Given the description of an element on the screen output the (x, y) to click on. 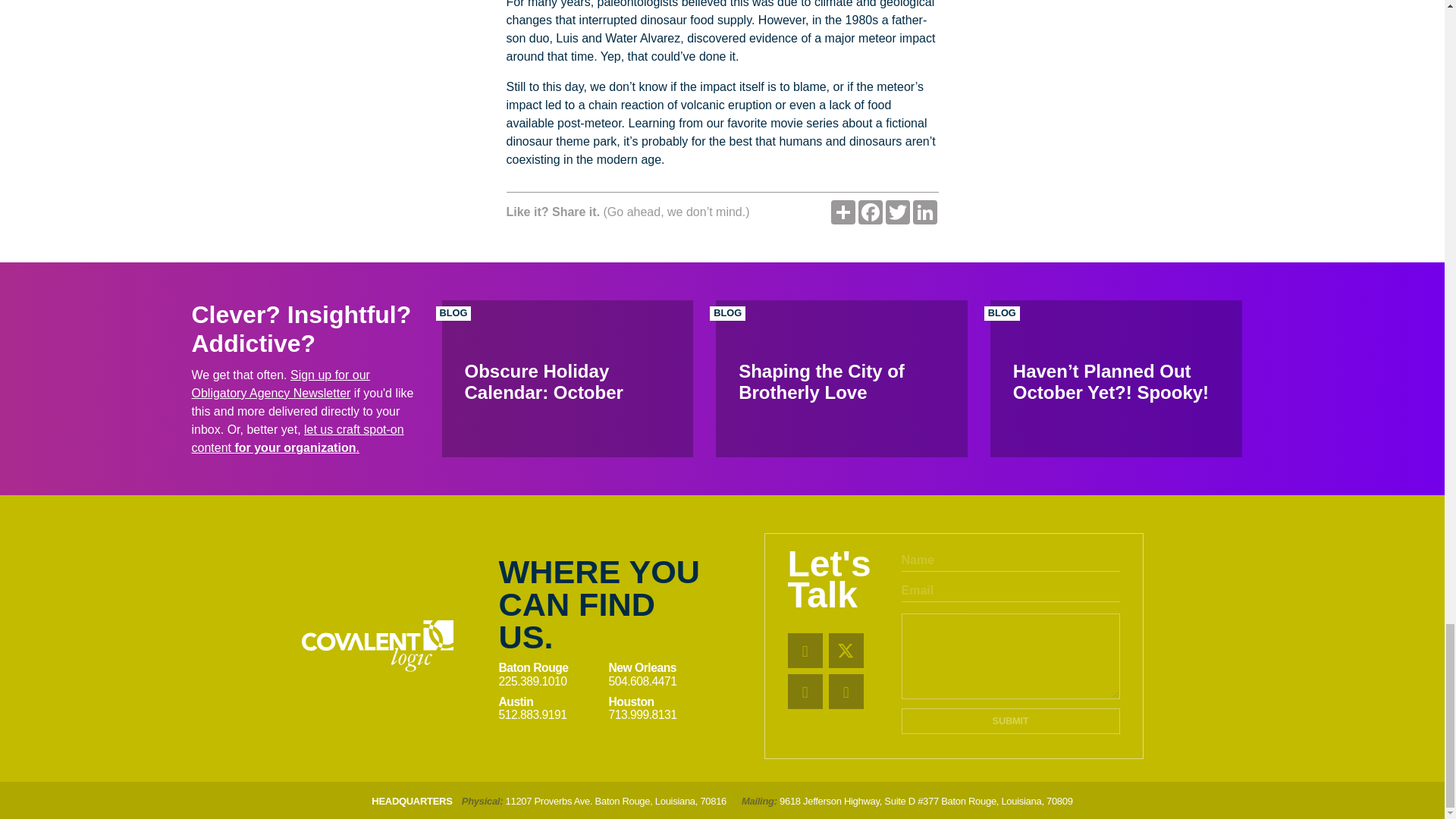
Twitter (897, 211)
New Orleans (662, 667)
let us craft spot-on content for your organization. (296, 438)
Austin (550, 701)
Facebook (870, 211)
504.608.4471 (662, 680)
Baton Rouge (550, 667)
Share (843, 211)
Sign up for our Obligatory Agency Newsletter (279, 383)
LinkedIn (925, 211)
Obscure Holiday Calendar: October (567, 378)
512.883.9191 (550, 714)
225.389.1010 (550, 680)
713.999.8131 (662, 714)
Shaping the City of Brotherly Love (842, 378)
